Given the description of an element on the screen output the (x, y) to click on. 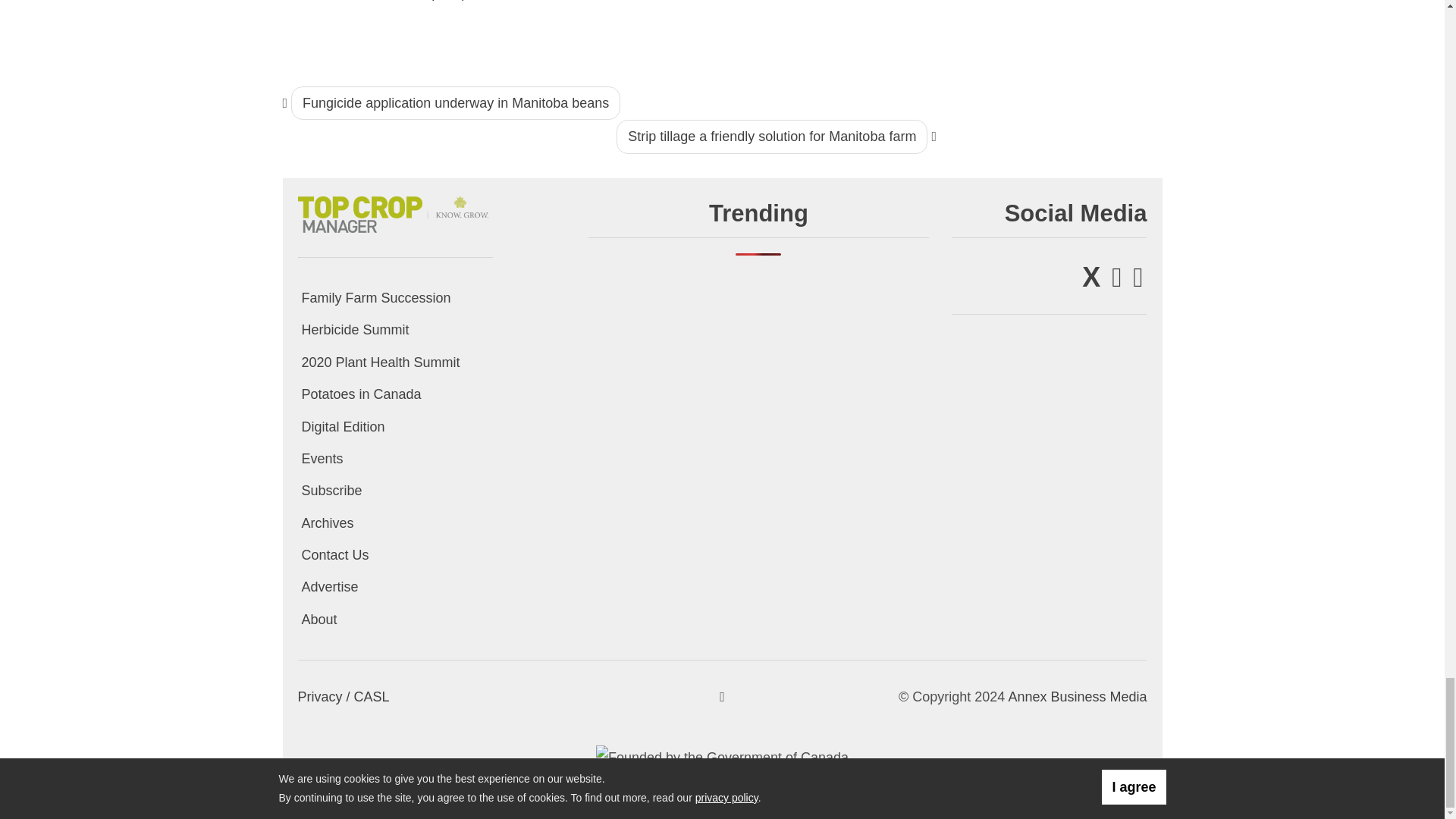
Annex Business Media (1077, 696)
Top Crop Manager (395, 212)
